Given the description of an element on the screen output the (x, y) to click on. 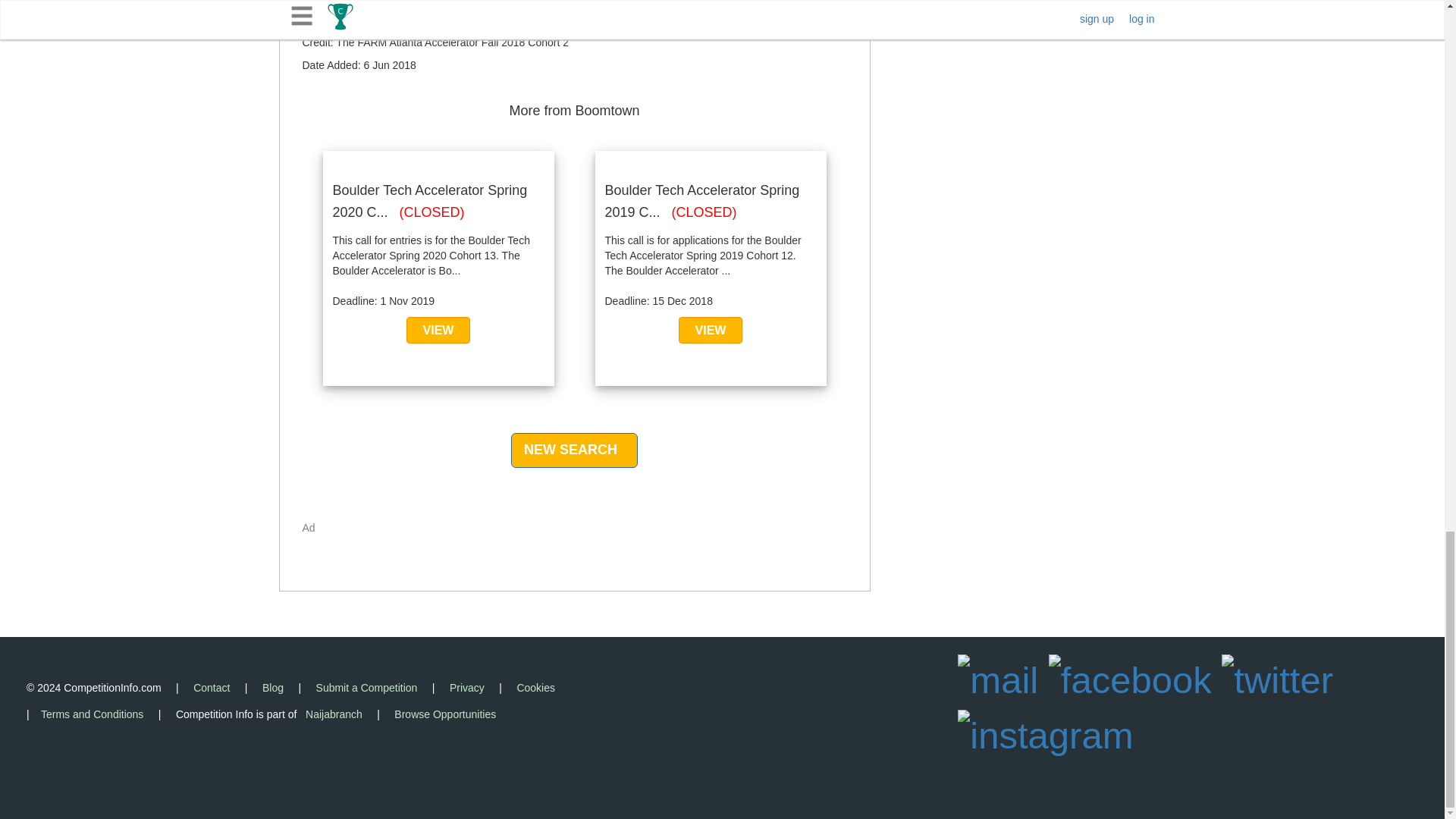
Contact (211, 687)
VIEW (709, 329)
Blog (272, 687)
VIEW (437, 329)
Naijabranch (333, 714)
Privacy (466, 687)
Submit a Competition (366, 687)
NEW SEARCH   (574, 450)
Cookies (535, 687)
Terms and Conditions (91, 714)
Browse Opportunities (445, 714)
